Given the description of an element on the screen output the (x, y) to click on. 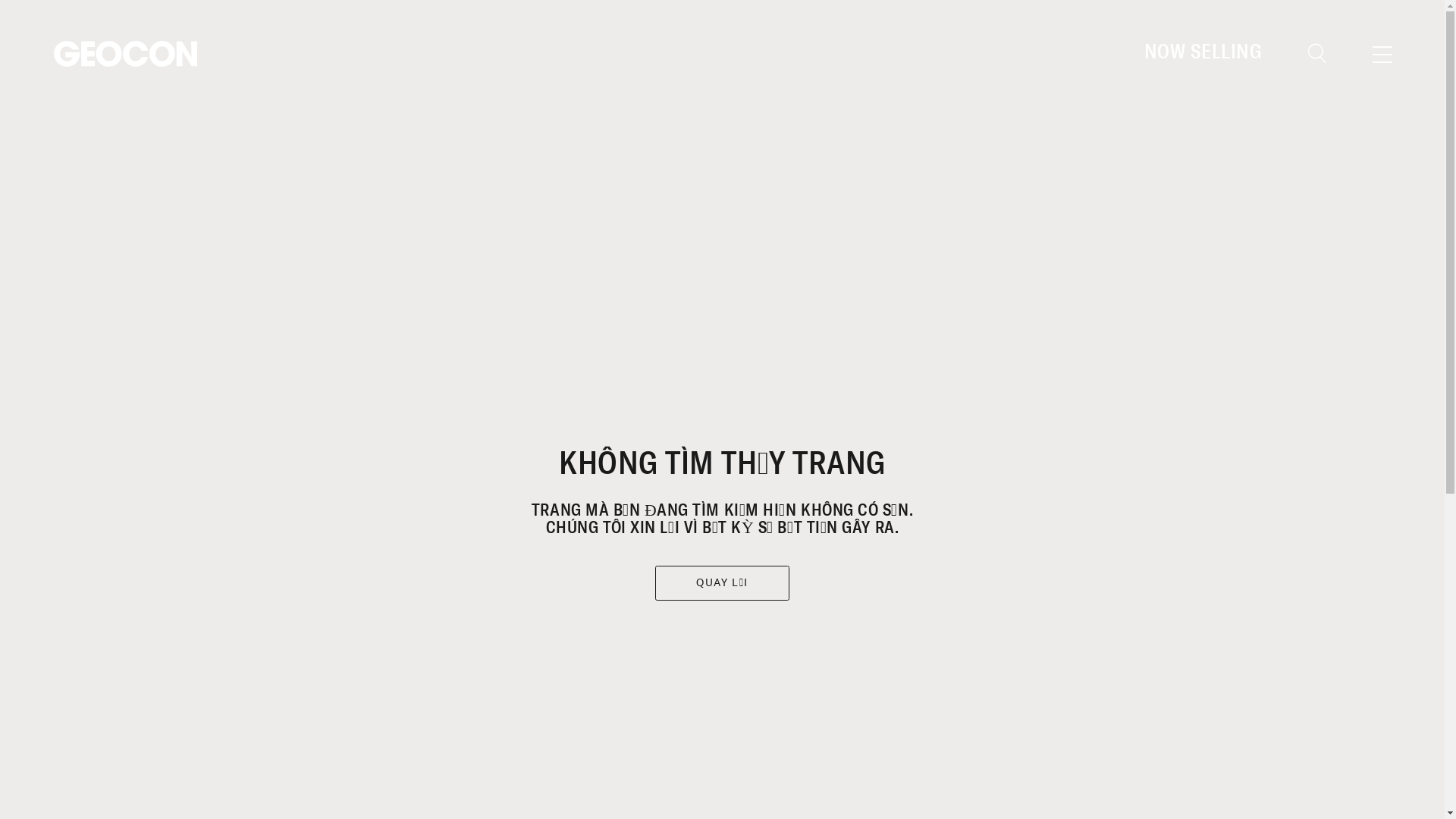
Search Element type: text (1348, 246)
NOW SELLING Element type: text (1202, 51)
